Given the description of an element on the screen output the (x, y) to click on. 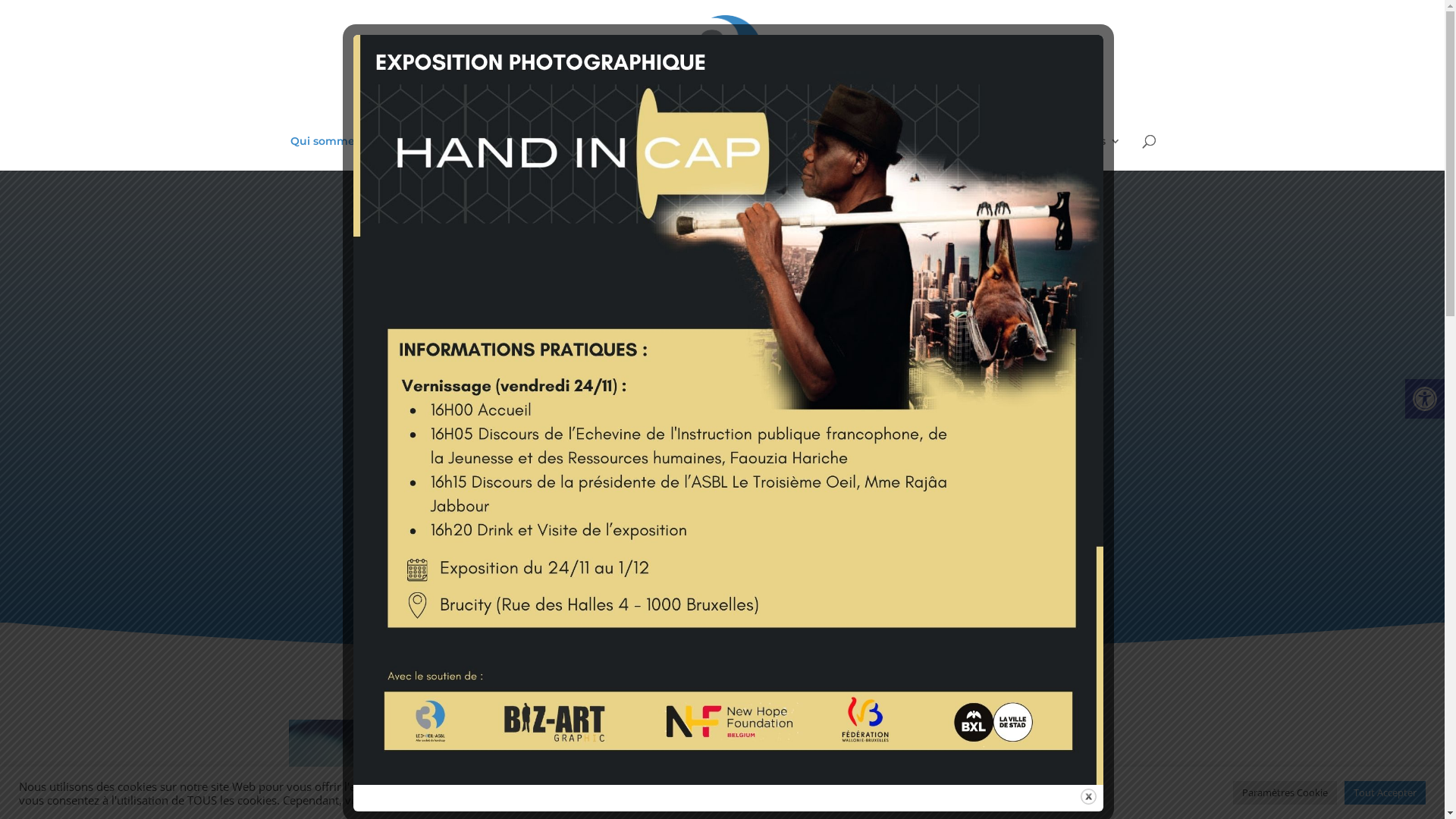
Contact Element type: text (1000, 152)
Sensibilisation Element type: text (712, 152)
Nos formations Element type: text (469, 152)
DigitALL Element type: text (885, 152)
Tout Accepter Element type: text (1384, 792)
FAITES UN DON Element type: text (581, 521)
News Element type: text (943, 152)
Qui sommes-nous ? Element type: text (345, 152)
DEVENEZ BENEVOLE Element type: text (862, 521)
